Given the description of an element on the screen output the (x, y) to click on. 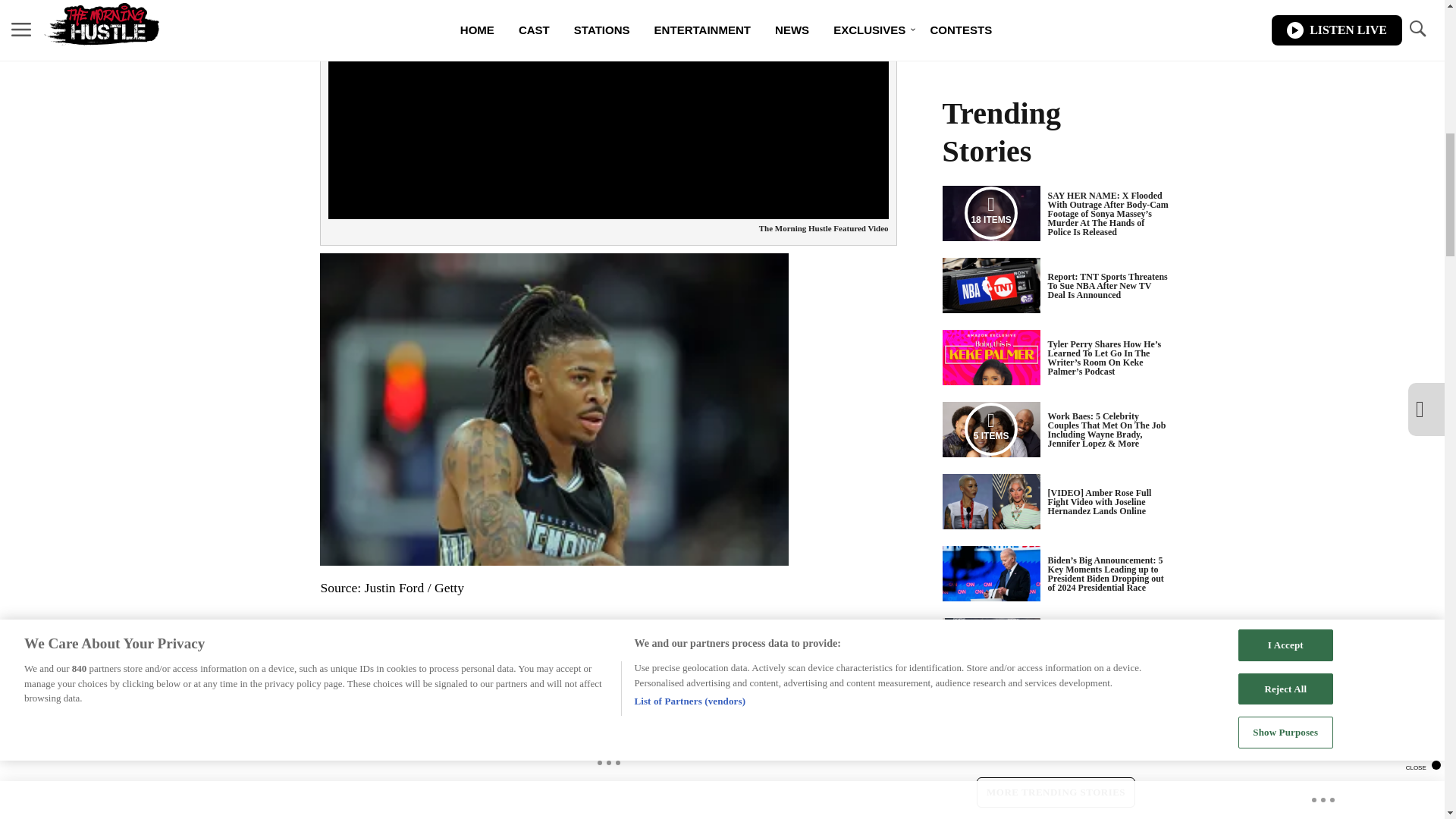
Media Playlist (990, 428)
Media Playlist (990, 212)
Media Playlist (990, 717)
